Given the description of an element on the screen output the (x, y) to click on. 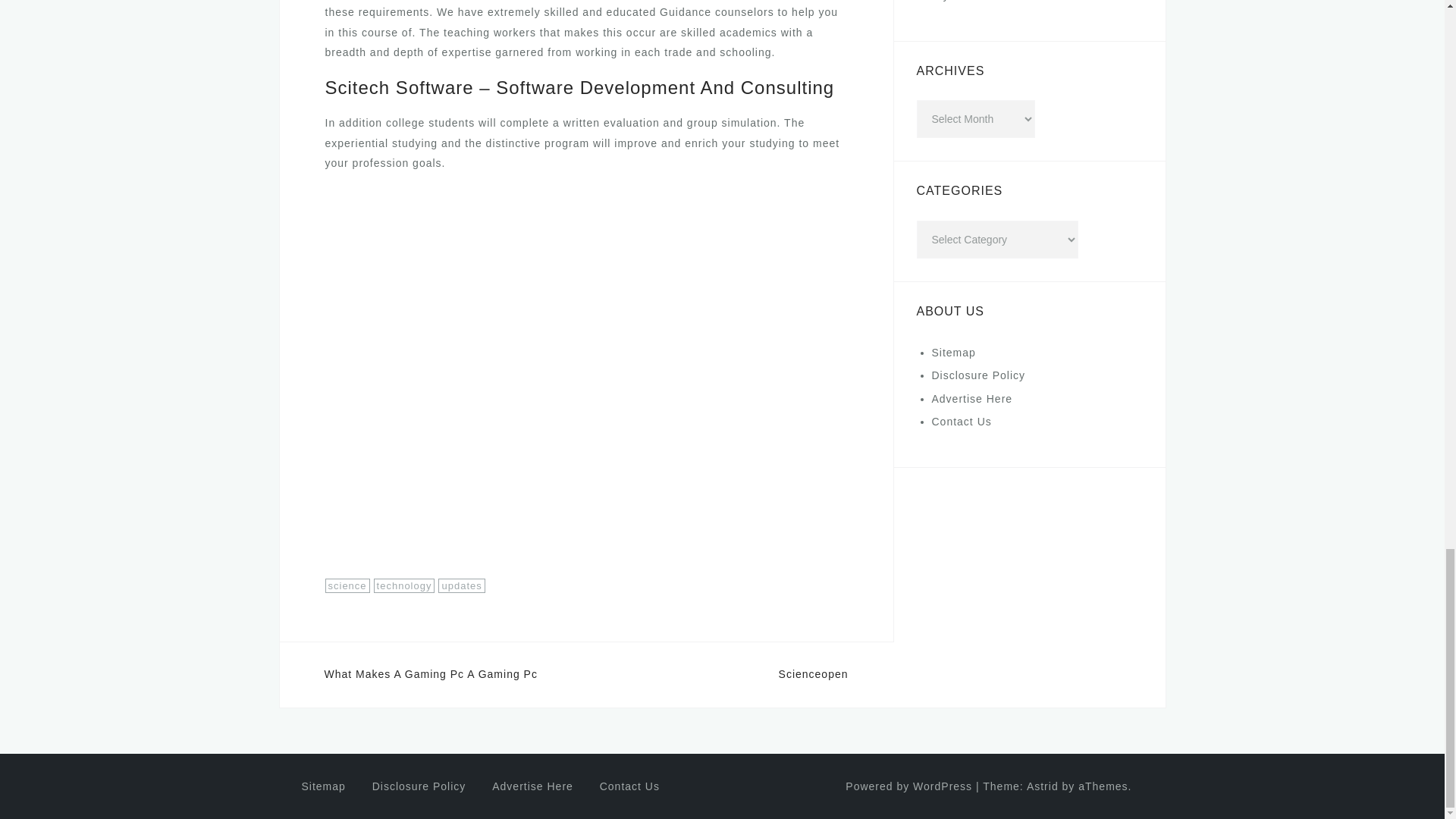
updates (461, 585)
Scienceopen (813, 674)
technology (404, 585)
science (346, 585)
What Makes A Gaming Pc A Gaming Pc (430, 674)
